Given the description of an element on the screen output the (x, y) to click on. 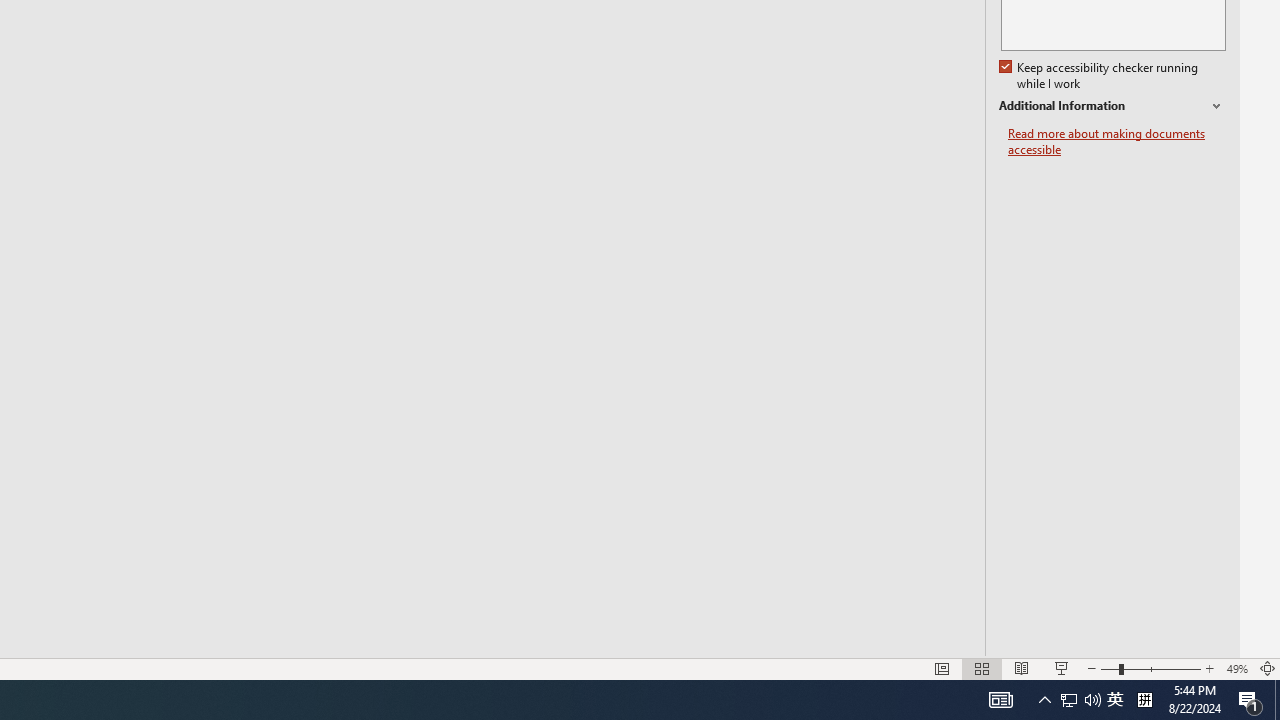
Zoom 49% (1236, 668)
